Given the description of an element on the screen output the (x, y) to click on. 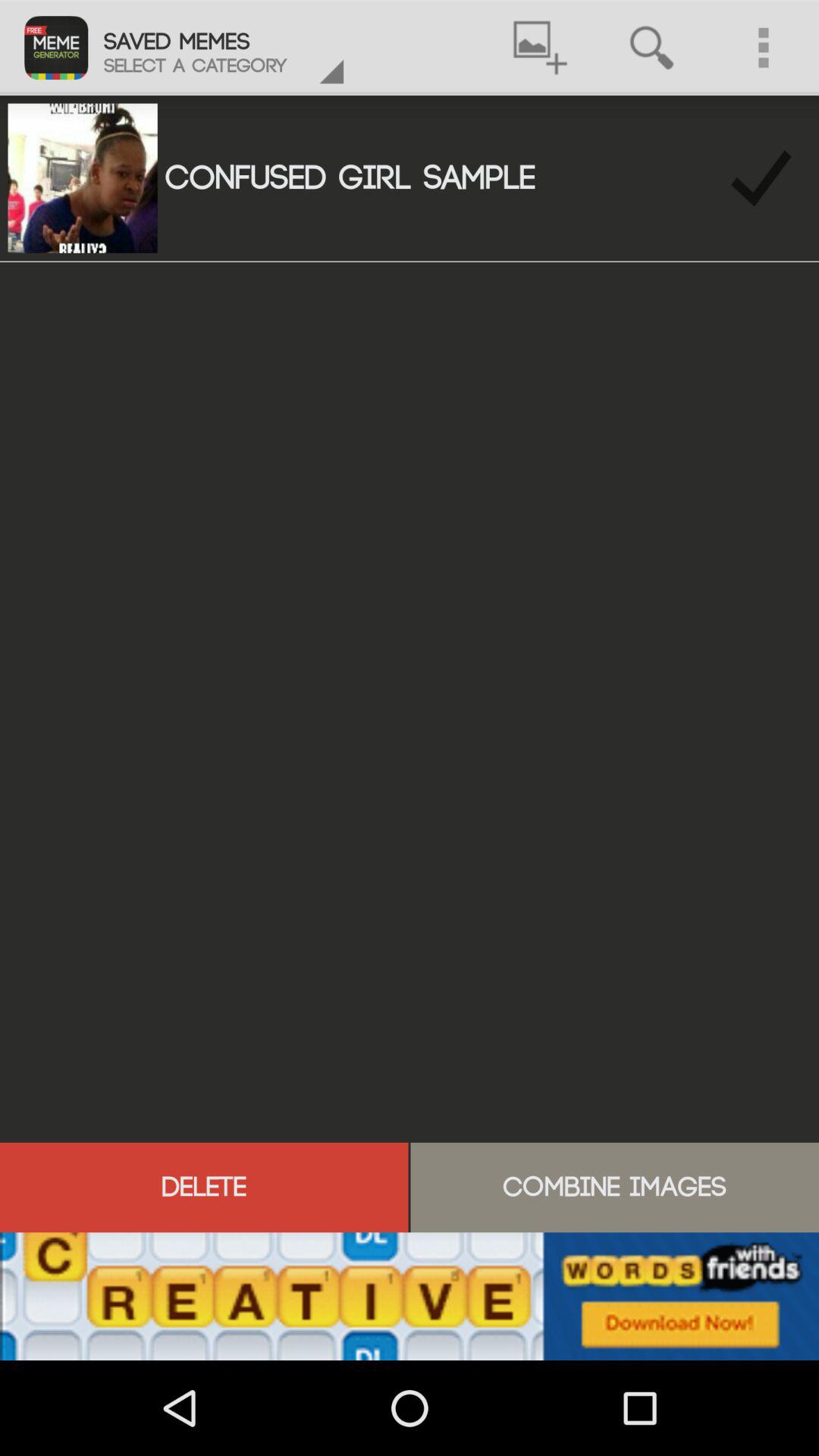
ok (761, 178)
